Given the description of an element on the screen output the (x, y) to click on. 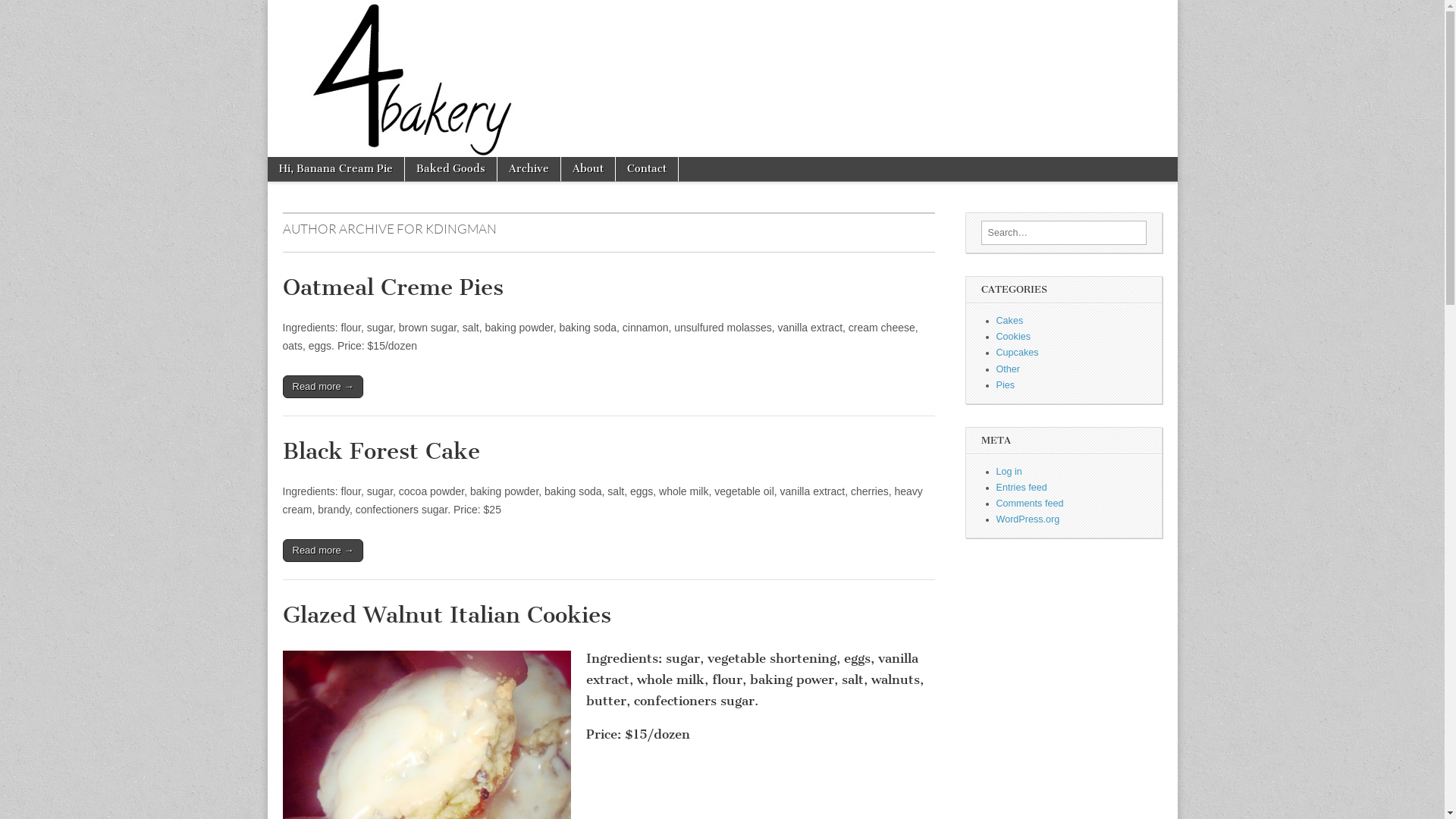
WordPress.org Element type: text (1028, 519)
Baked Goods Element type: text (450, 168)
Black Forest Cake Element type: text (380, 450)
Glazed Walnut Italian Cookies Element type: text (446, 614)
Skip to content Element type: text (305, 164)
Other Element type: text (1008, 369)
Log in Element type: text (1009, 471)
Comments feed Element type: text (1029, 503)
Archive Element type: text (528, 168)
Contact Element type: text (646, 168)
Cakes Element type: text (1009, 320)
About Element type: text (588, 168)
Hi, Banana Cream Pie Element type: text (334, 168)
Oatmeal Creme Pies Element type: text (392, 287)
Cupcakes Element type: text (1017, 352)
Cookies Element type: text (1013, 336)
4-Bakery Element type: text (348, 58)
Entries feed Element type: text (1021, 487)
Pies Element type: text (1005, 384)
4-Bakery Element type: hover (721, 78)
